Given the description of an element on the screen output the (x, y) to click on. 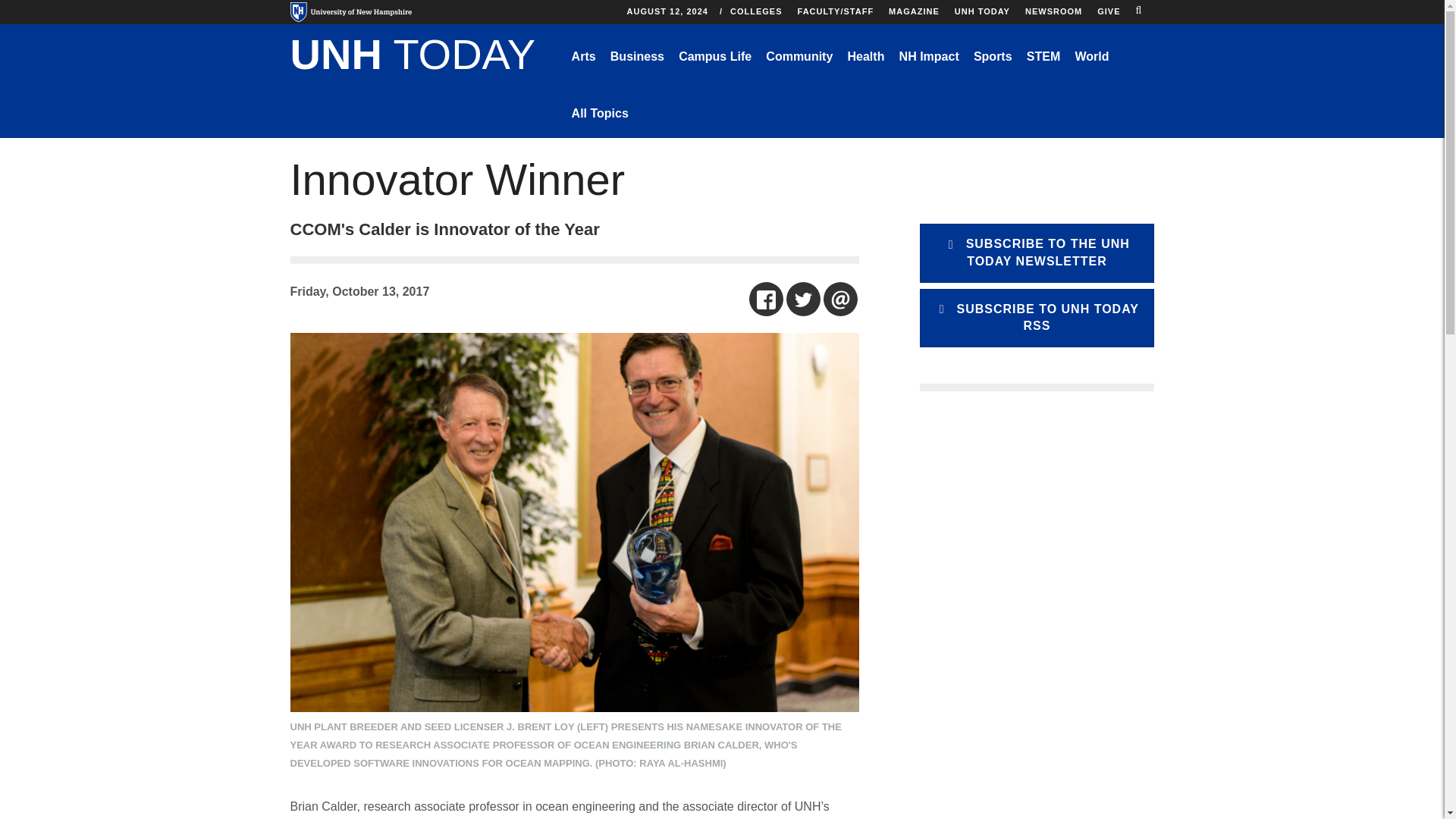
UNH Today (412, 56)
University of New Hampshire Homepage (349, 12)
Show Community Menu (799, 56)
Show Campus Life Menu (714, 56)
Skip to main content (674, 4)
Show NH Impact Menu (928, 56)
Show Business Menu (636, 56)
